Given the description of an element on the screen output the (x, y) to click on. 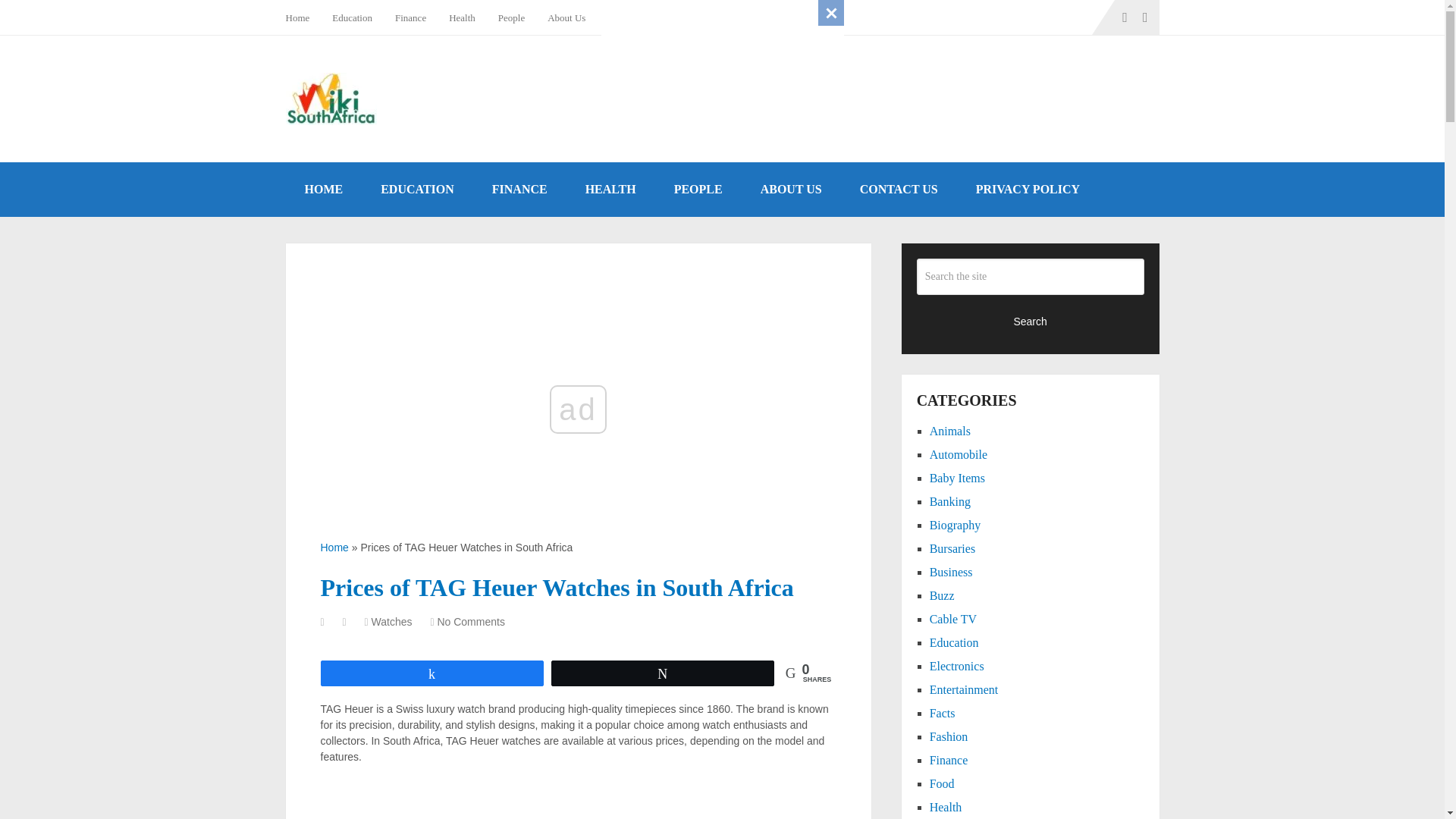
Finance (411, 17)
HEALTH (610, 189)
No Comments (469, 621)
Privacy Policy (703, 17)
Education (352, 17)
CONTACT US (898, 189)
About Us (565, 17)
People (510, 17)
HOME (323, 189)
Contact Us (629, 17)
View all posts in Watches (391, 621)
Home (302, 17)
PRIVACY POLICY (1027, 189)
Health (462, 17)
FINANCE (519, 189)
